Given the description of an element on the screen output the (x, y) to click on. 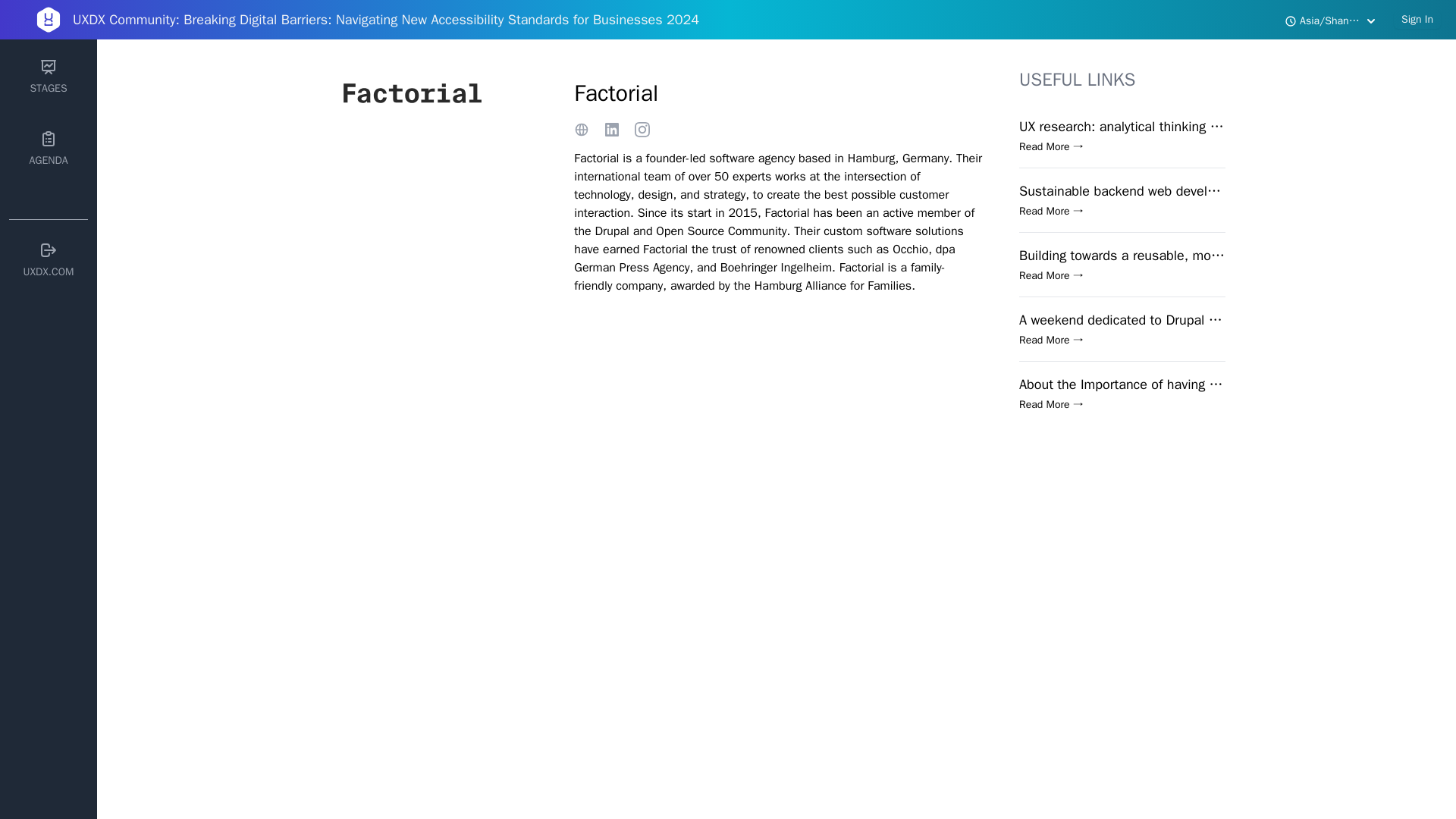
LinkedIn (641, 129)
Building towards a reusable, modular web (1122, 255)
A weekend dedicated to Drupal CMS (1122, 319)
Sign In (1417, 19)
STAGES (47, 76)
UX research: analytical thinking meets intuition (1122, 126)
Website (581, 129)
LinkedIn (612, 129)
Sustainable backend web development (1122, 190)
AGENDA (47, 148)
UXDX.COM (47, 260)
About the Importance of having a DevOps in your team (1122, 383)
